Given the description of an element on the screen output the (x, y) to click on. 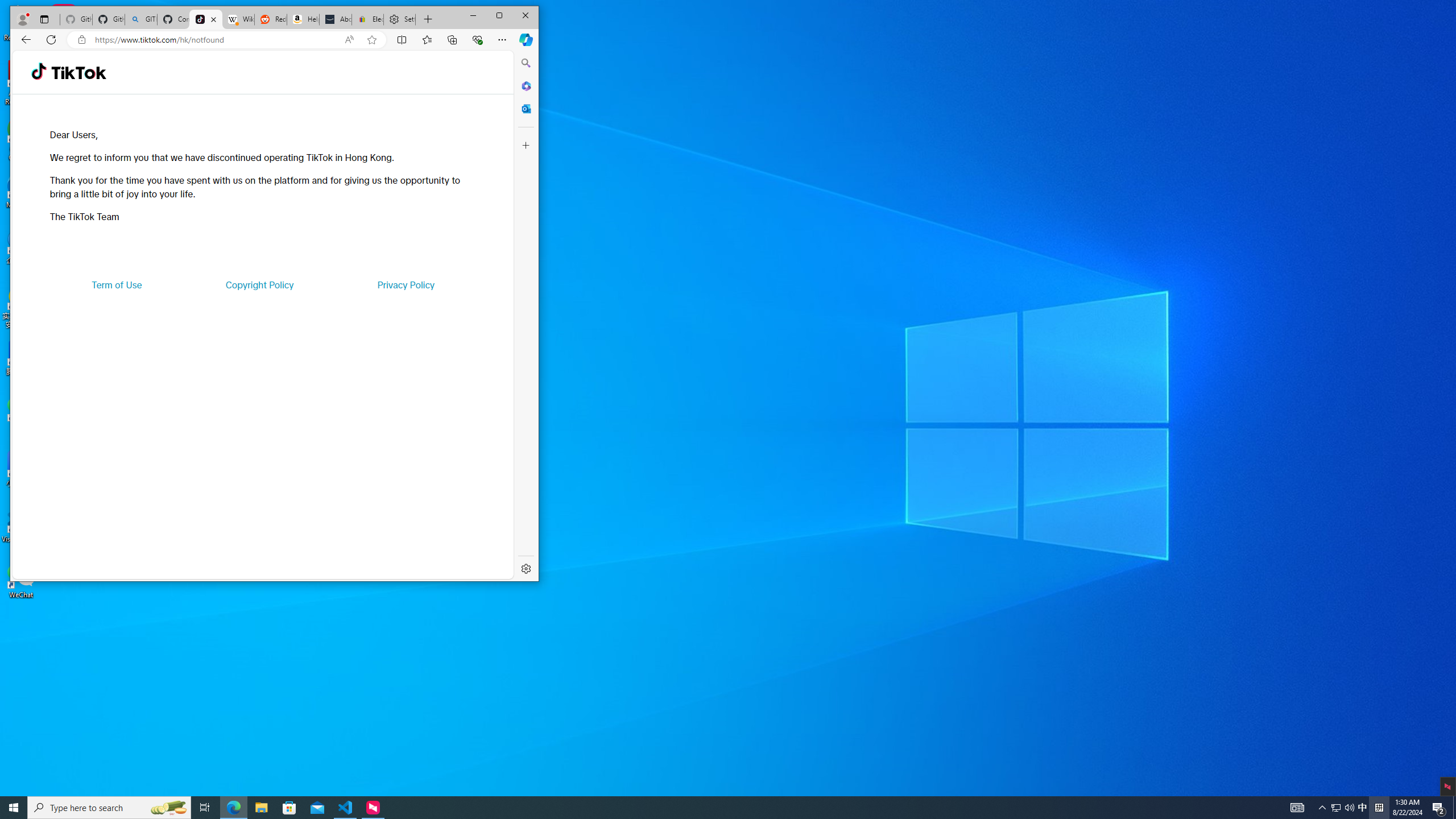
Notification Chevron (1322, 807)
Copyright Policy (259, 284)
GITHUB - Search (140, 19)
Type here to search (108, 807)
Microsoft Store (289, 807)
